Given the description of an element on the screen output the (x, y) to click on. 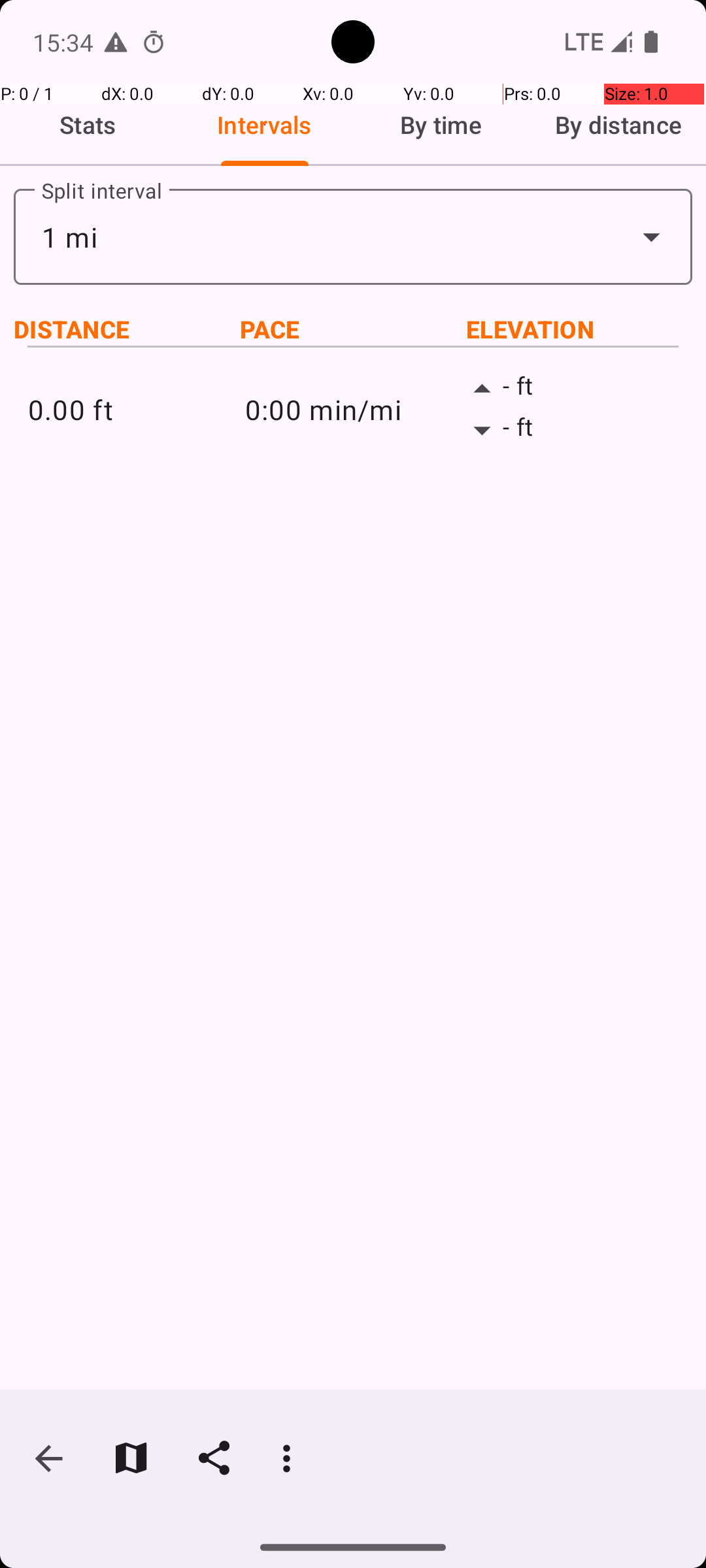
PACE Element type: android.widget.TextView (352, 328)
0:00 min/mi Element type: android.widget.TextView (352, 408)
